Given the description of an element on the screen output the (x, y) to click on. 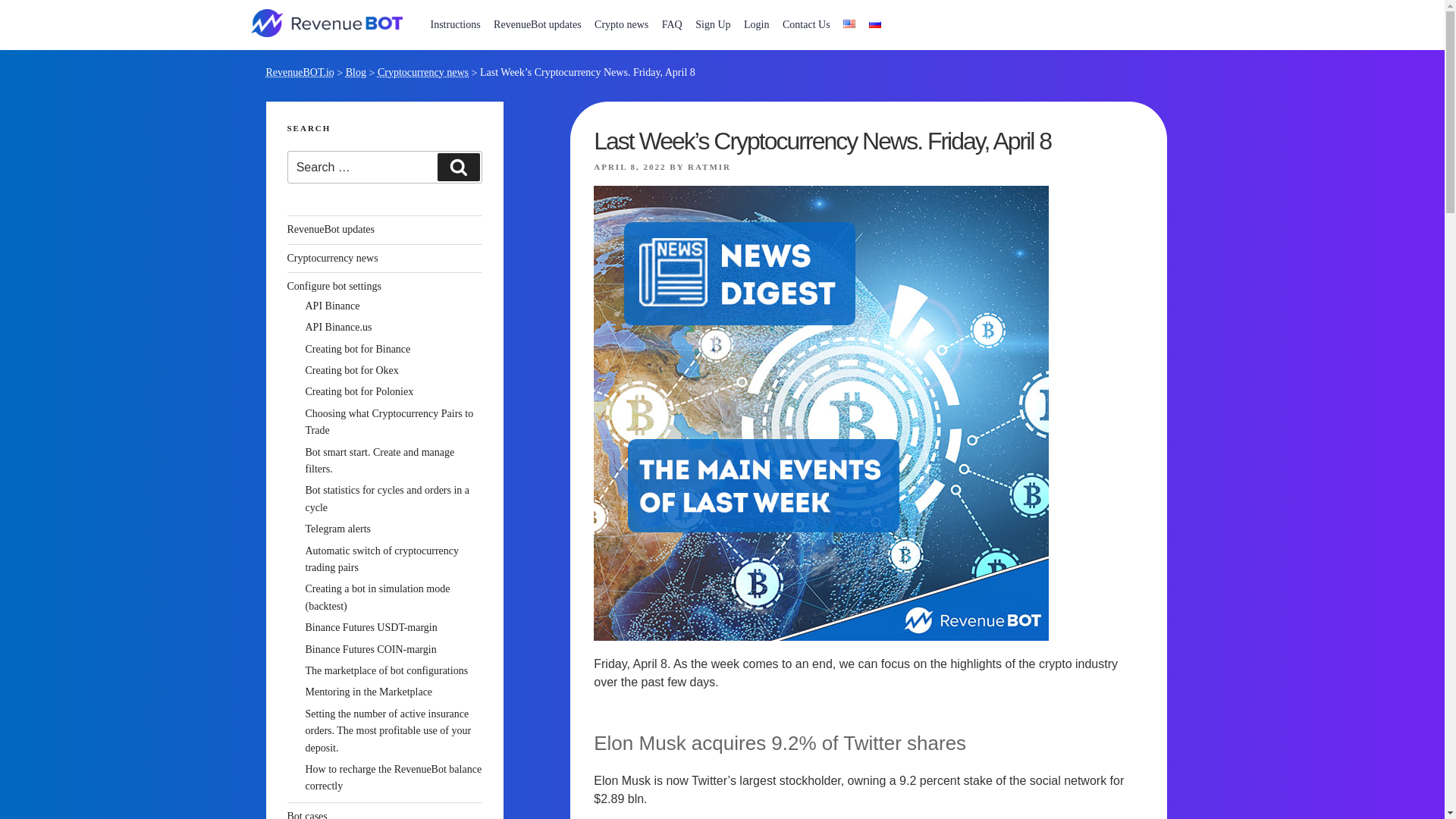
Instructions (454, 23)
RevenueBOT.io (298, 71)
Contact Us (806, 23)
RATMIR (708, 166)
Blog (356, 71)
Login (756, 23)
Cryptocurrency news (422, 71)
Crypto news (621, 23)
Sign Up (712, 23)
FAQ (671, 23)
APRIL 8, 2022 (629, 166)
RevenueBot updates (536, 23)
